Given the description of an element on the screen output the (x, y) to click on. 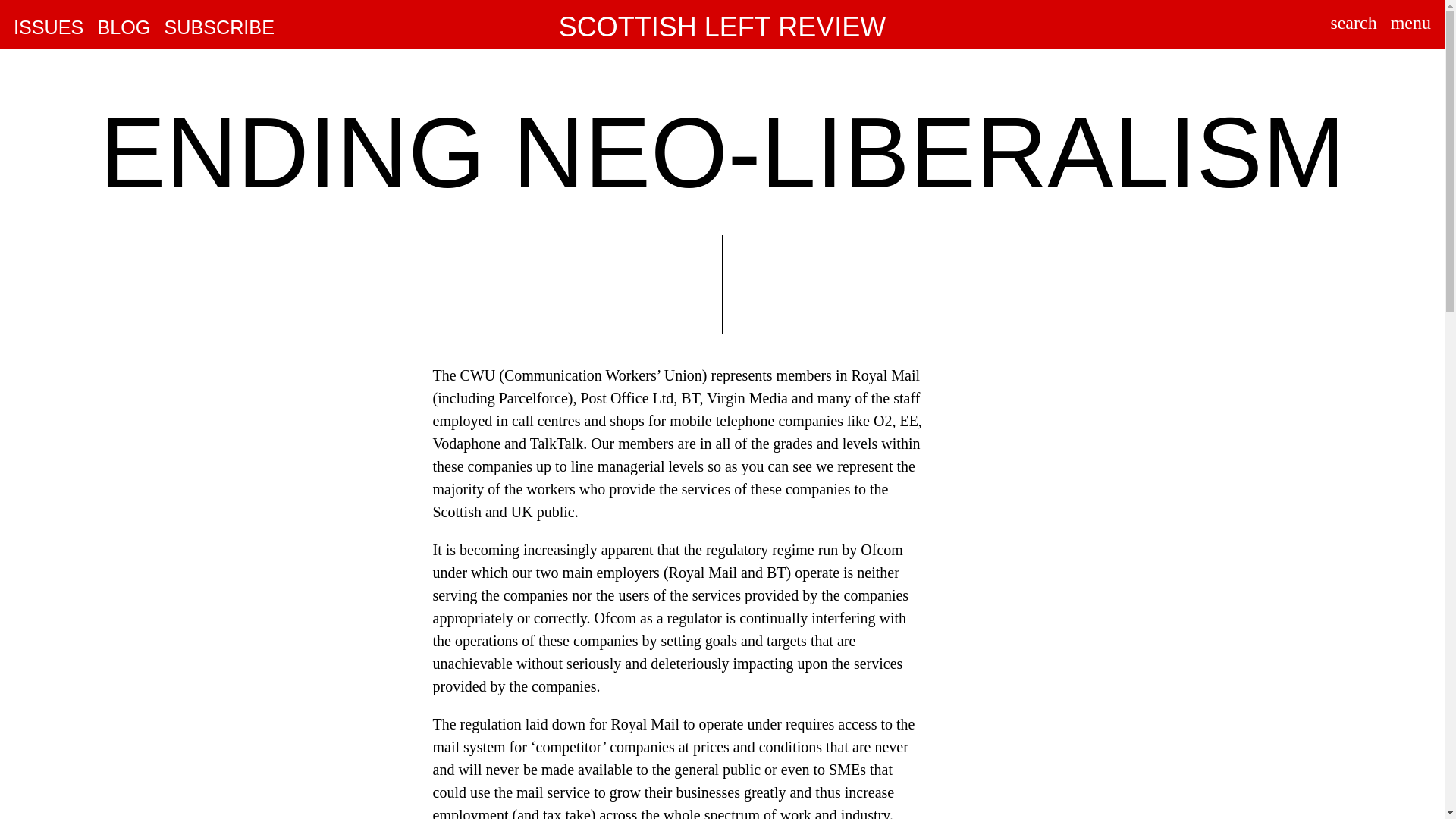
SCOTTISH LEFT REVIEW (722, 26)
SUBSCRIBE (219, 27)
BLOG (123, 27)
ISSUES (47, 27)
